Given the description of an element on the screen output the (x, y) to click on. 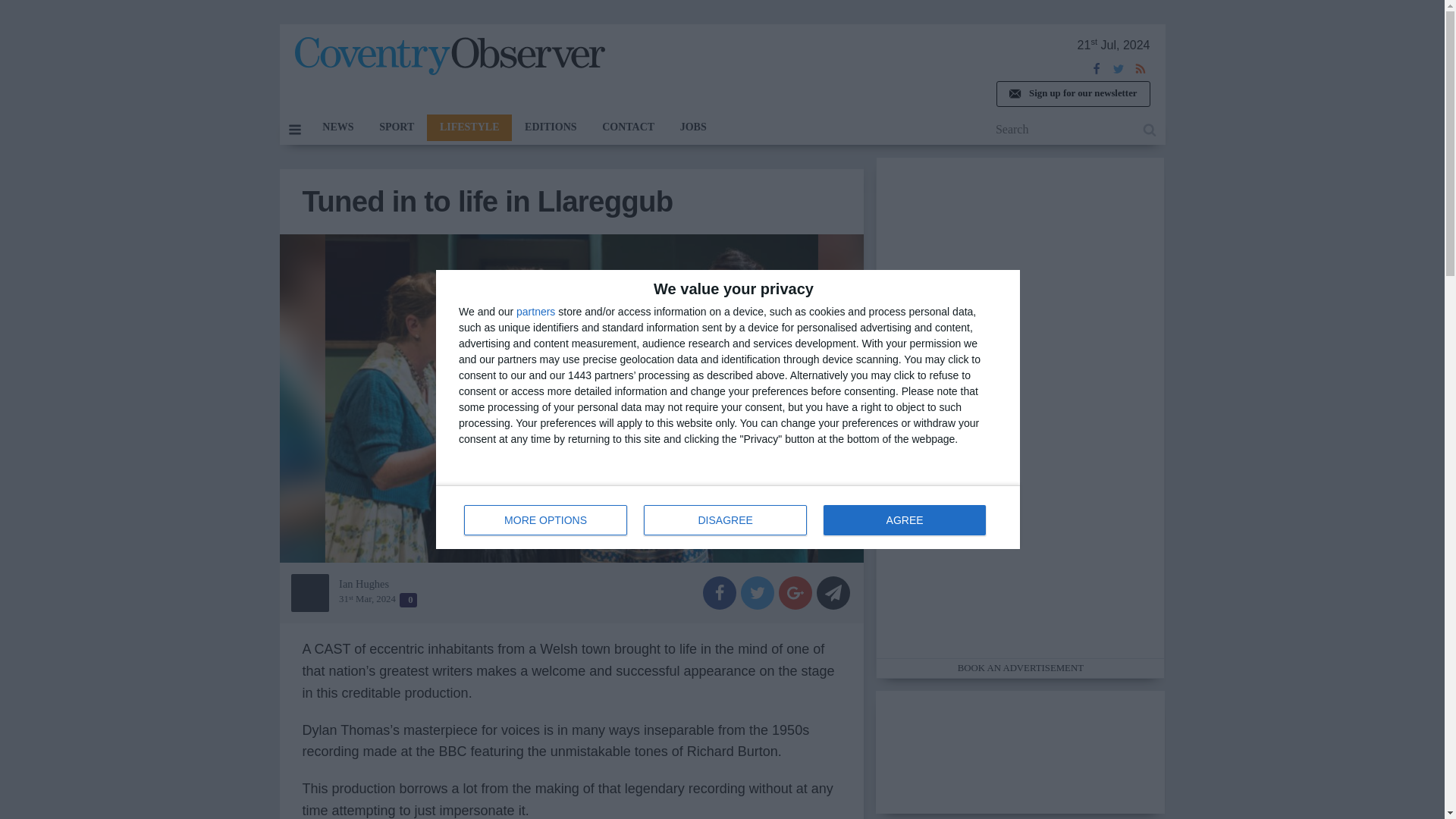
NEWS (337, 127)
MORE OPTIONS (545, 520)
partners (535, 311)
DISAGREE (724, 520)
SPORT (396, 127)
  Sign up for our newsletter (1072, 94)
The Coventry Observer (449, 55)
AGREE (904, 520)
